Given the description of an element on the screen output the (x, y) to click on. 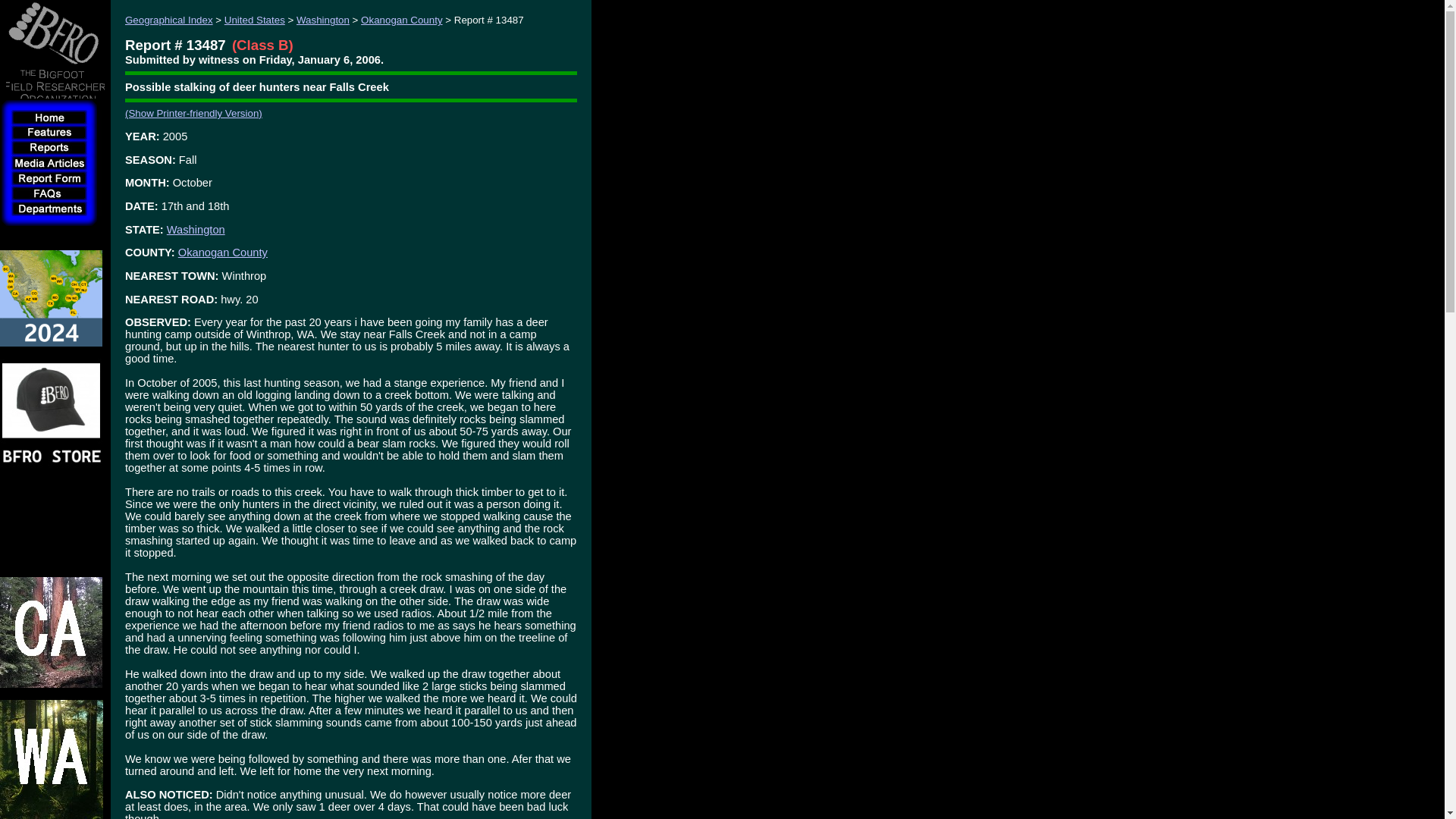
Okanogan County (401, 19)
United States (254, 19)
Washington (196, 229)
Okanogan County (222, 252)
Geographical Index (168, 19)
Washington (323, 19)
